Given the description of an element on the screen output the (x, y) to click on. 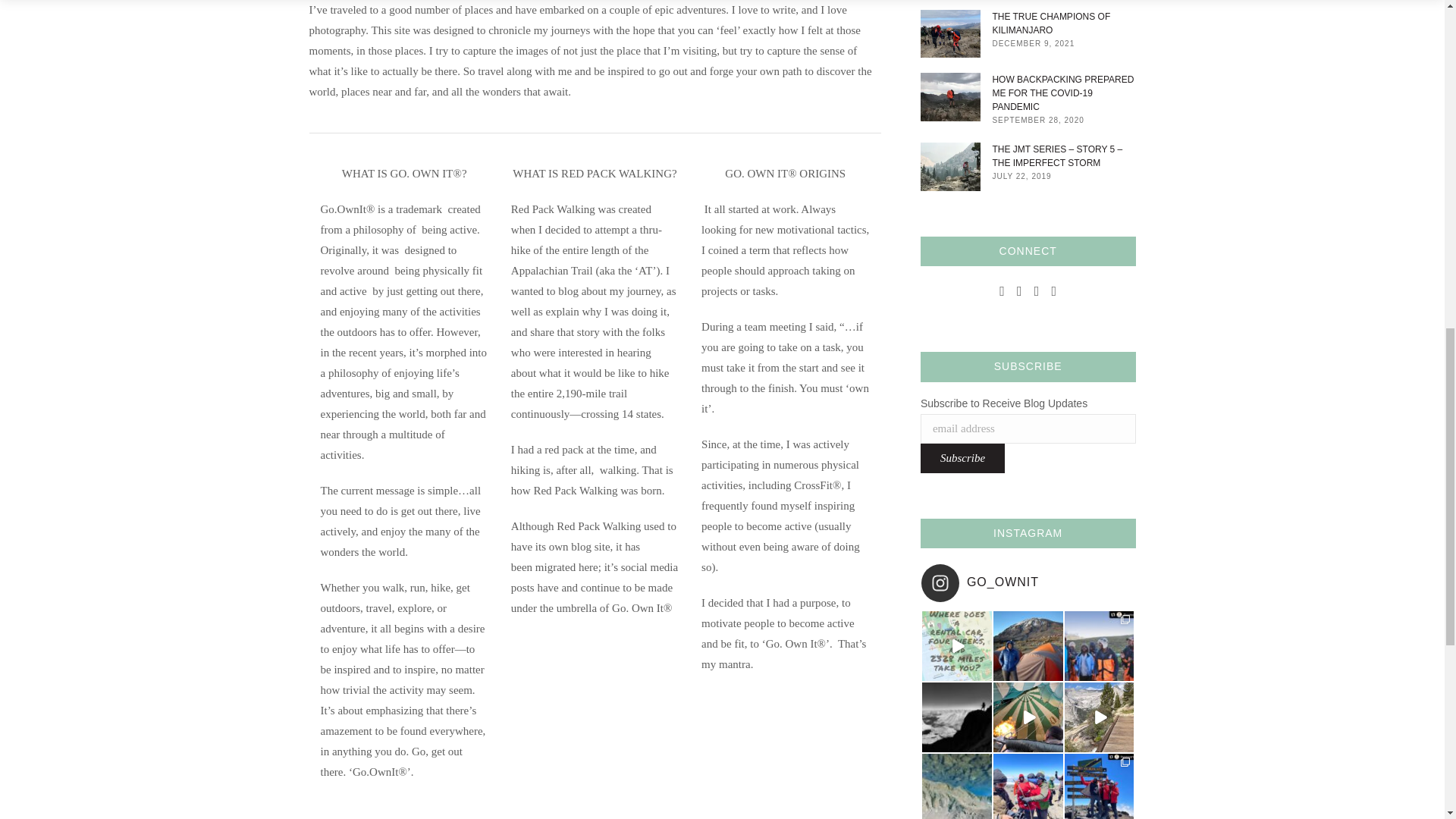
How Backpacking Prepared Me for the COVID-19 Pandemic (1063, 92)
Subscribe (962, 458)
The True Champions of Kilimanjaro (1063, 22)
